Given the description of an element on the screen output the (x, y) to click on. 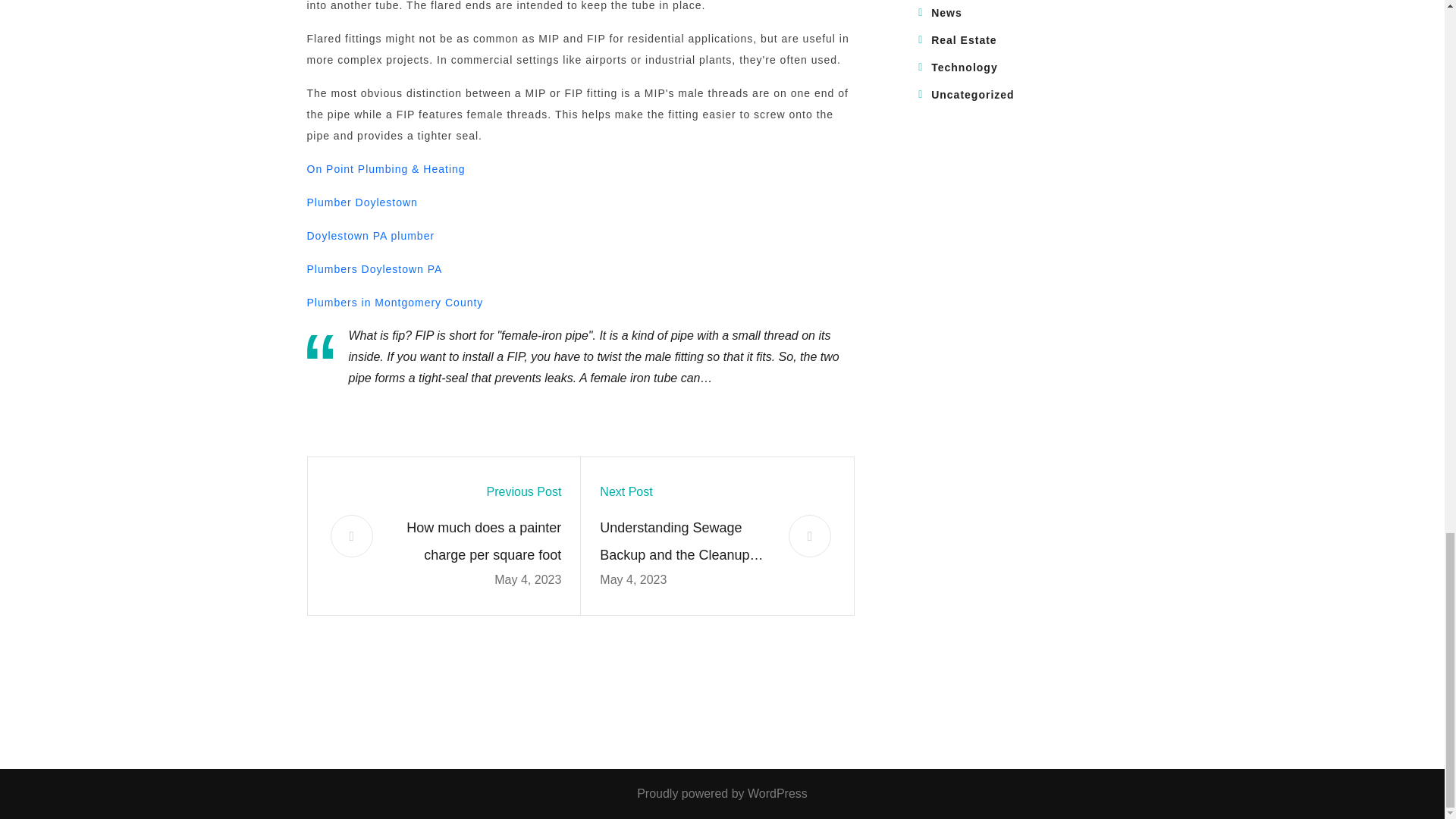
Doylestown PA plumber (369, 235)
How much does a painter charge per square foot (475, 541)
Plumbers Doylestown PA (373, 268)
May 4, 2023 (632, 579)
May 4, 2023 (527, 579)
Plumber Doylestown (360, 202)
Plumbers in Montgomery County (394, 302)
